Given the description of an element on the screen output the (x, y) to click on. 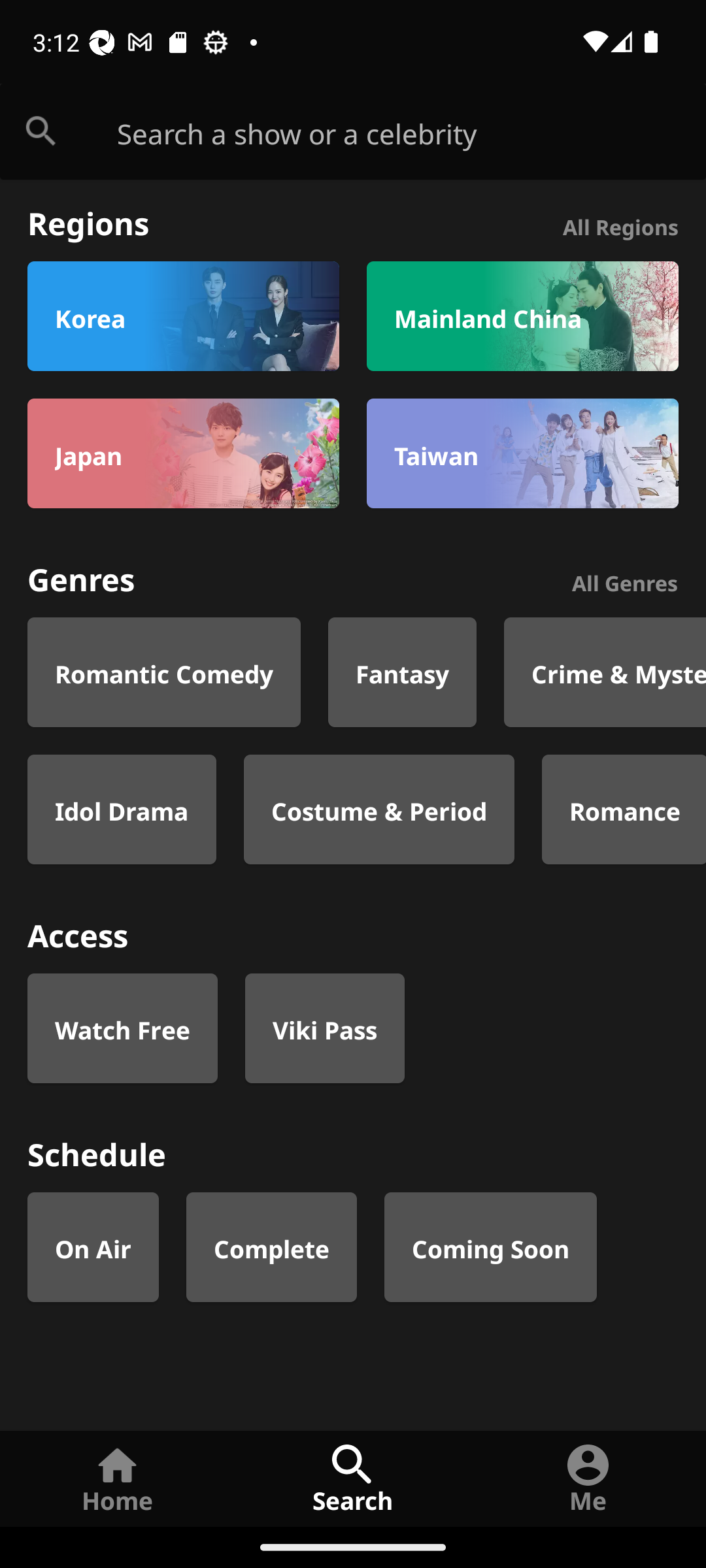
Search a show or a celebrity (411, 131)
All Regions (620, 224)
filter_region_kr Korea (183, 316)
filter_region_cn Mainland China (522, 316)
filter_region_jp Japan (183, 453)
filter_region_tw Taiwan (522, 453)
All Genres (624, 580)
filter_genre_18g Romantic Comedy (163, 672)
filter_genre_19g Fantasy (402, 672)
filter_genre_7g Crime & Mystery (605, 672)
filter_genre_1038g Idol Drama (121, 808)
filter_genre_25g Costume & Period (378, 808)
filter_genre_1068g Romance (624, 808)
filter_access_watch_free Watch Free (122, 1028)
filter_access_vikipass Viki Pass (324, 1028)
filter_schedule_on_air On Air (92, 1246)
filter_schedule_complete Complete (271, 1246)
filter_schedule_coming_soon Coming Soon (490, 1246)
Home (117, 1478)
Me (588, 1478)
